Given the description of an element on the screen output the (x, y) to click on. 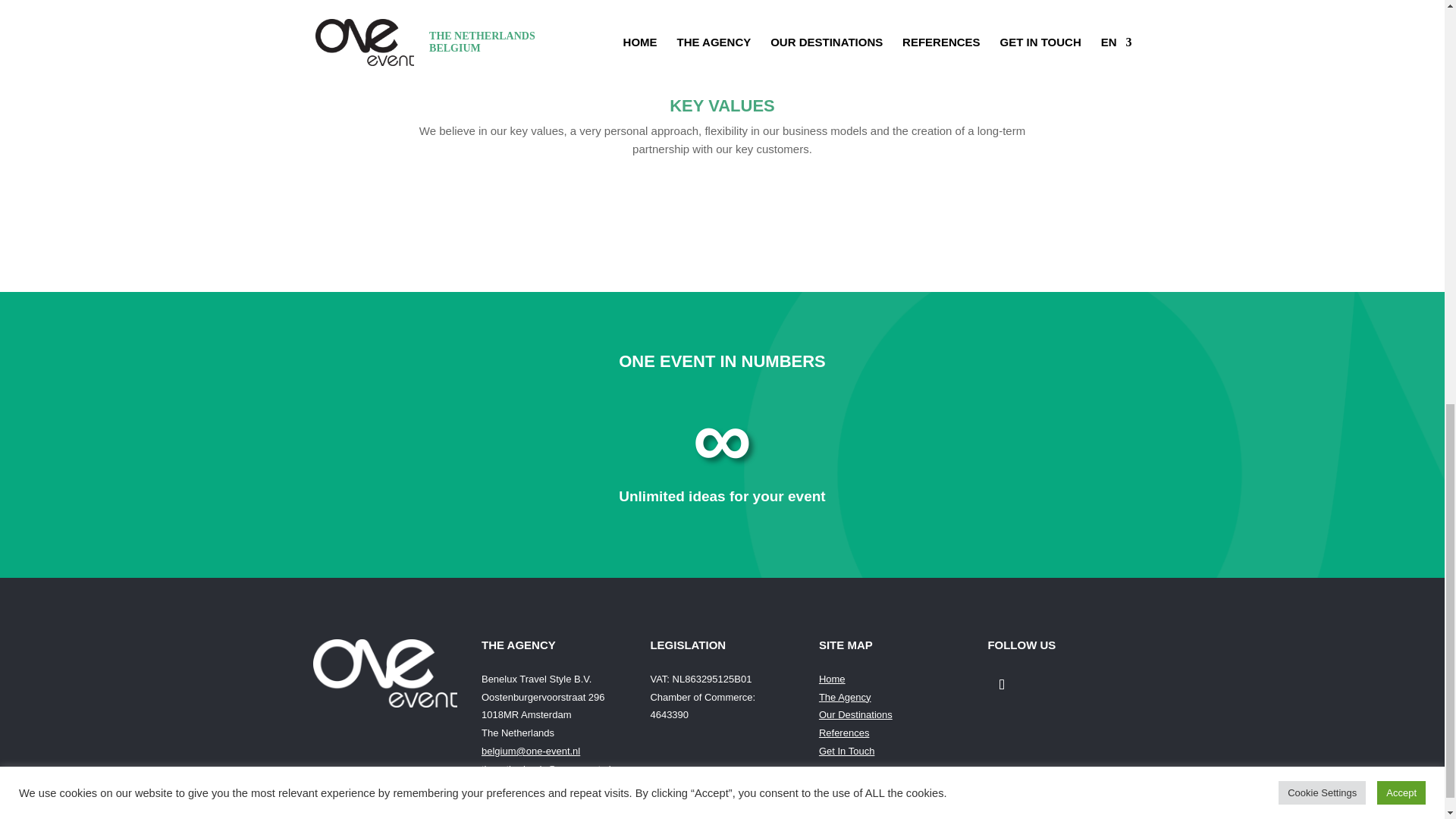
Follow on LinkedIn (1001, 684)
Get In Touch (846, 750)
Home (831, 678)
Privacy Policy (848, 808)
Our Destinations (855, 714)
References (843, 732)
The Agency (844, 696)
